Given the description of an element on the screen output the (x, y) to click on. 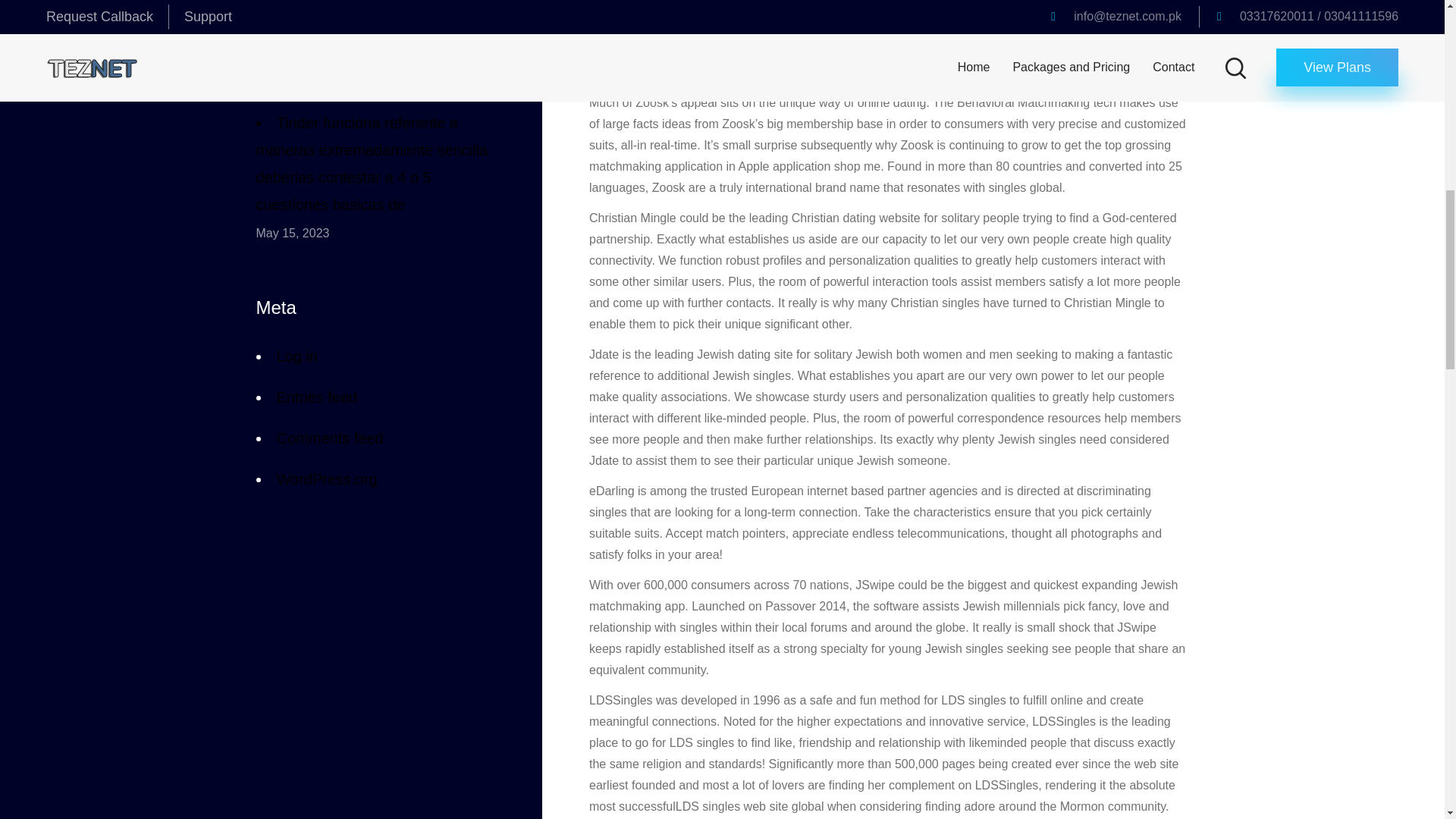
WordPress.org (326, 477)
Log in (296, 359)
escort index (1080, 29)
Entries feed (316, 395)
Comments feed (329, 436)
